Given the description of an element on the screen output the (x, y) to click on. 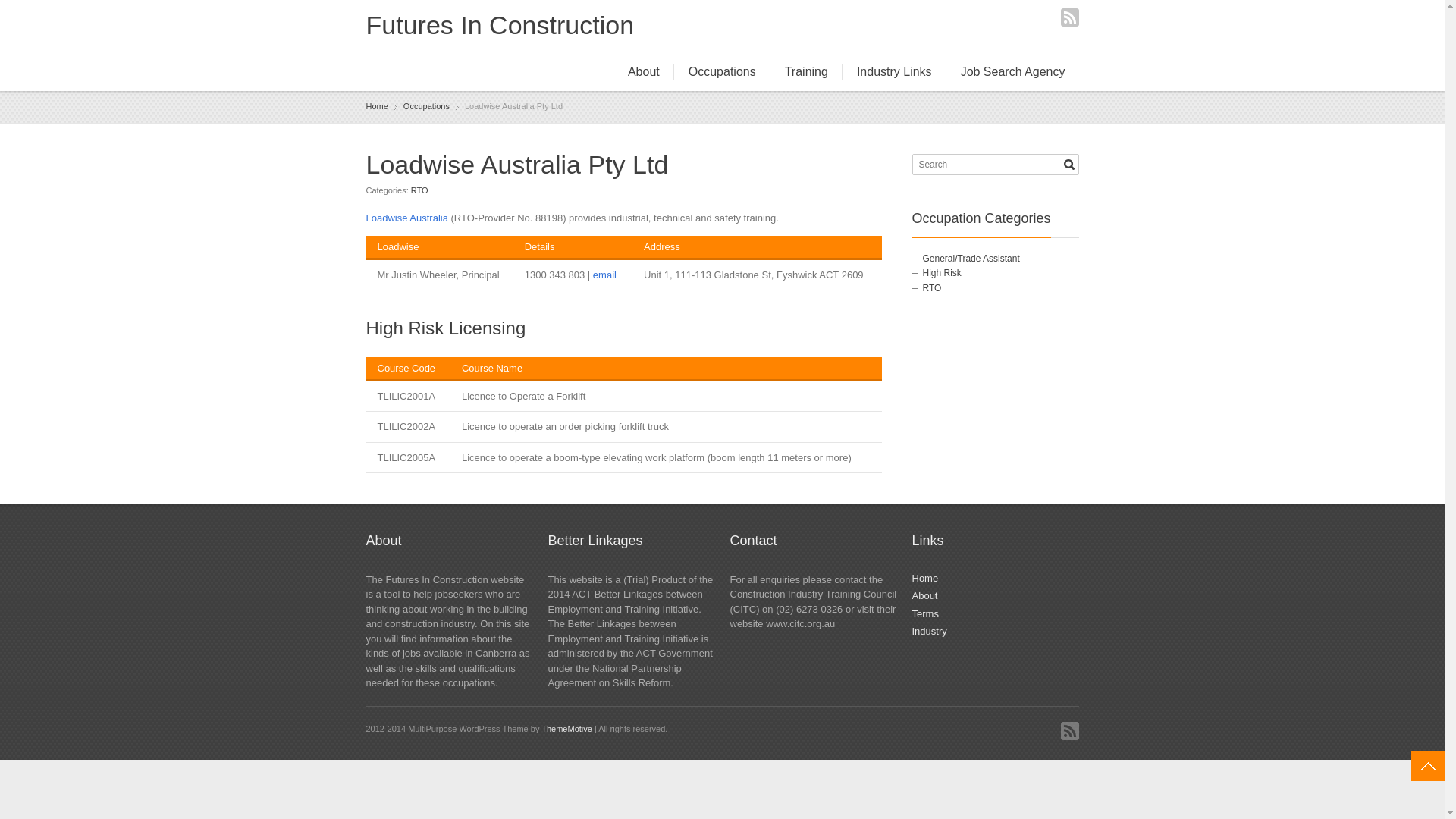
RTO Element type: text (931, 287)
Occupations Element type: text (721, 71)
About Element type: text (643, 71)
RSS Element type: text (1069, 730)
email Element type: text (604, 274)
Home Element type: text (376, 105)
Occupations Element type: text (426, 105)
Industry Element type: text (928, 631)
Search terms Element type: hover (995, 164)
Home Element type: text (924, 577)
Job Search Agency Element type: text (1012, 71)
High Risk Element type: text (941, 272)
Training Element type: text (805, 71)
Industry Links Element type: text (893, 71)
RSS Element type: text (1069, 17)
Loadwise Australia Element type: text (406, 217)
General/Trade Assistant Element type: text (970, 258)
ThemeMotive Element type: text (566, 728)
Top Element type: text (1427, 765)
Search Element type: text (1069, 164)
RTO Element type: text (419, 189)
About Element type: text (924, 595)
Terms Element type: text (924, 613)
Futures In Construction Element type: text (499, 25)
